Given the description of an element on the screen output the (x, y) to click on. 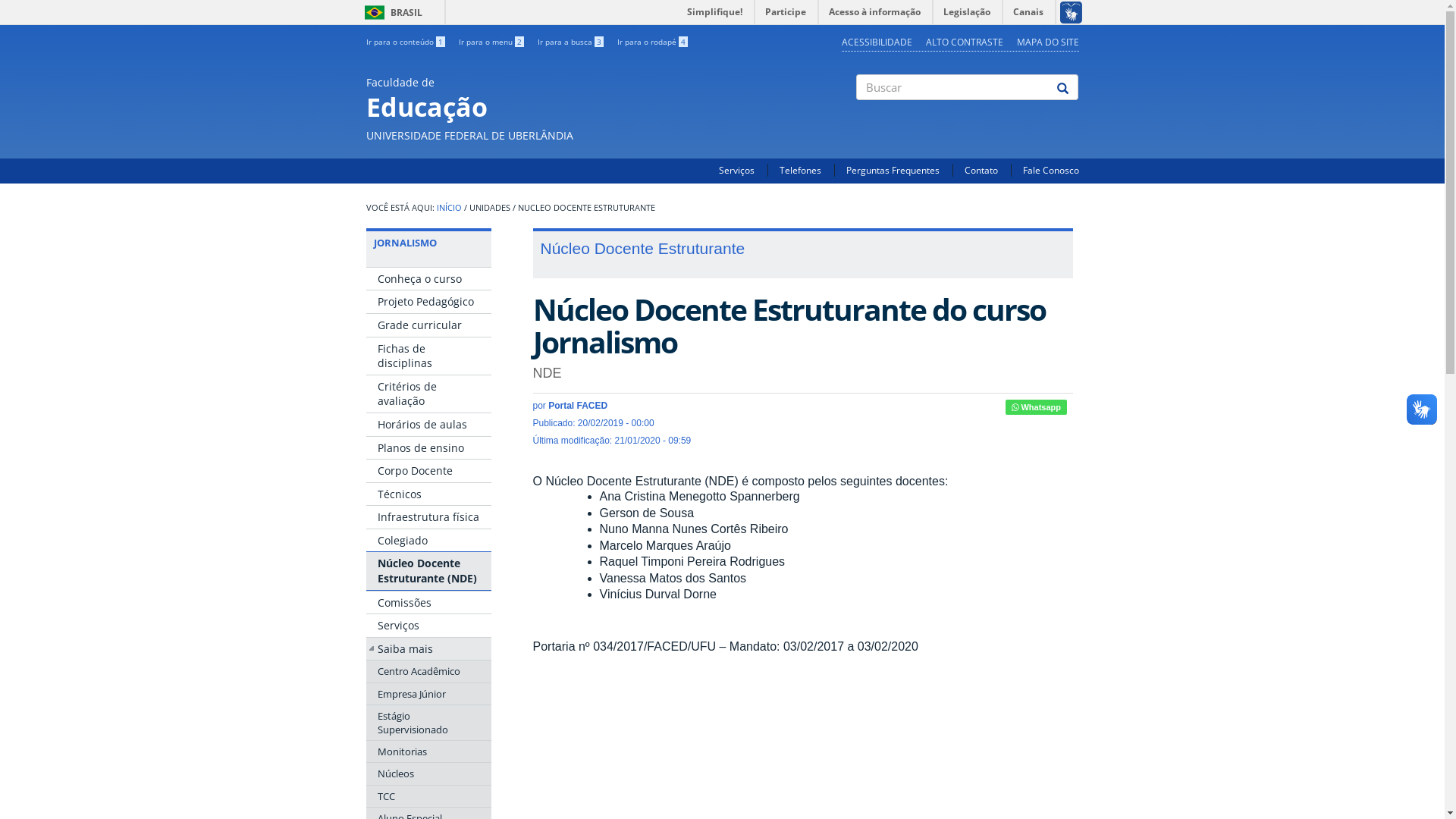
Perguntas Frequentes Element type: text (892, 169)
Contato Element type: text (980, 169)
Saiba mais Element type: text (427, 648)
TCC Element type: text (427, 795)
Whatsapp Element type: text (1035, 406)
Buscar Element type: text (856, 112)
MAPA DO SITE Element type: text (1047, 41)
Monitorias Element type: text (427, 751)
Tweet Widget Element type: text (998, 407)
ACESSIBILIDADE Element type: text (876, 41)
Ir para a busca 3 Element type: text (569, 41)
Fale Conosco Element type: text (1050, 169)
Colegiado Element type: text (427, 540)
Corpo Docente Element type: text (427, 470)
Telefones Element type: text (800, 169)
Planos de ensino Element type: text (427, 447)
Grade curricular Element type: text (427, 324)
BRASIL Element type: text (373, 12)
ALTO CONTRASTE Element type: text (963, 41)
Fichas de disciplinas Element type: text (427, 355)
JORNALISMO Element type: text (404, 242)
Ir para o menu 2 Element type: text (490, 41)
